Given the description of an element on the screen output the (x, y) to click on. 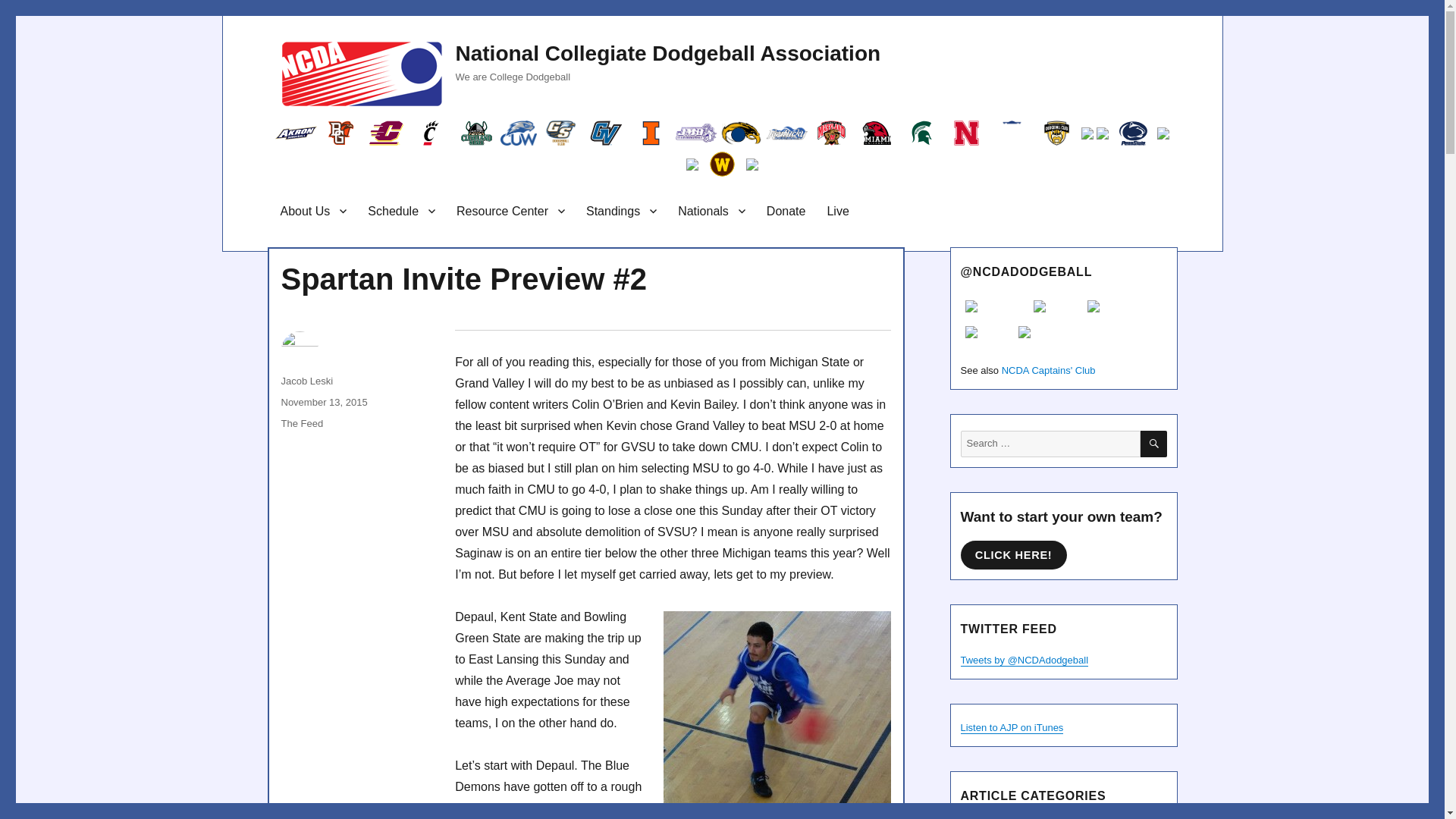
National Collegiate Dodgeball Association (667, 53)
Schedule (400, 210)
About Us (313, 210)
